Given the description of an element on the screen output the (x, y) to click on. 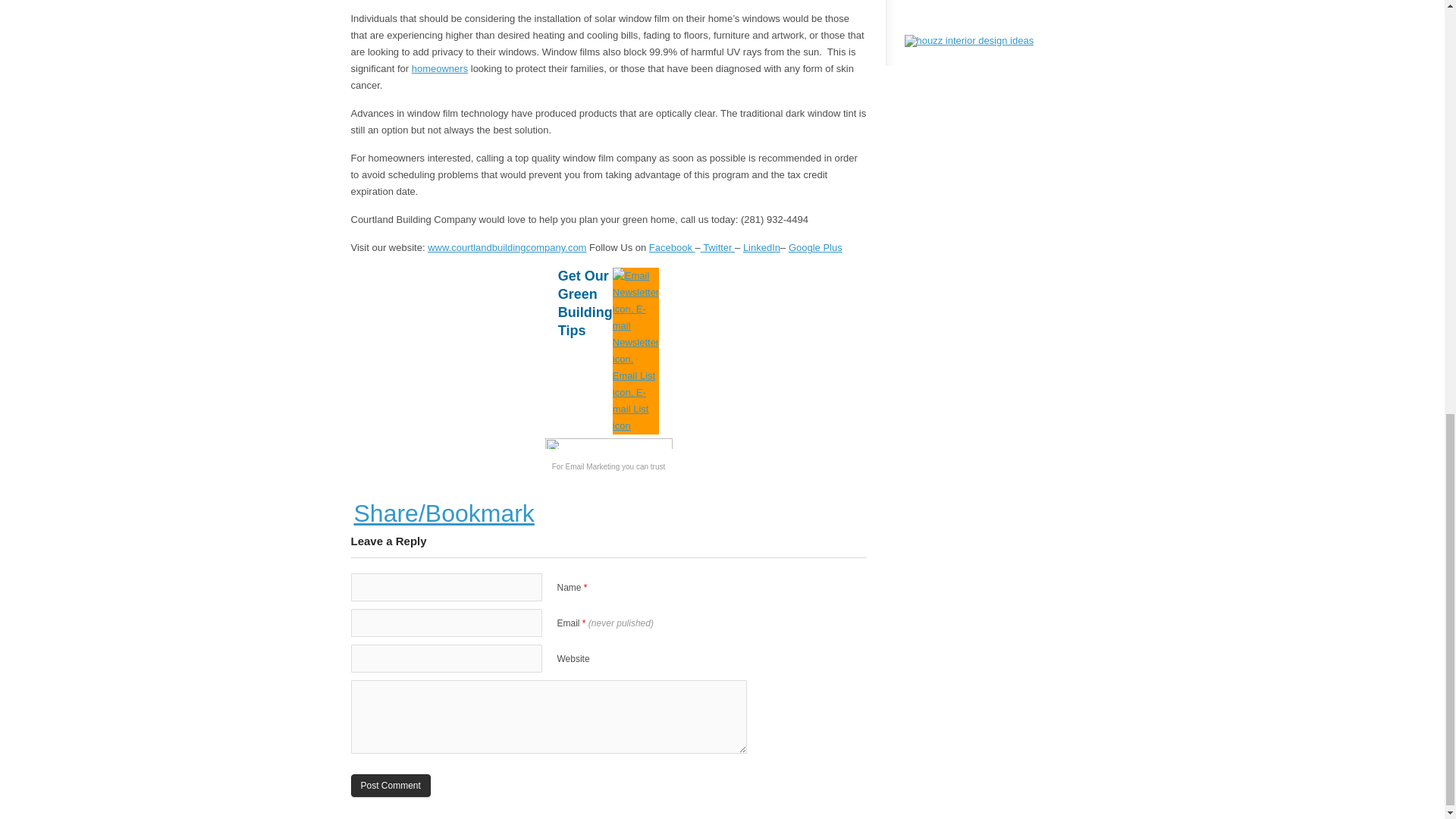
Twitter (717, 247)
homeowners (439, 68)
www.courtlandbuildingcompany.com (507, 247)
LinkedIn (761, 247)
Email Marketing (593, 466)
Facebook (672, 247)
Google Plus (816, 247)
